Given the description of an element on the screen output the (x, y) to click on. 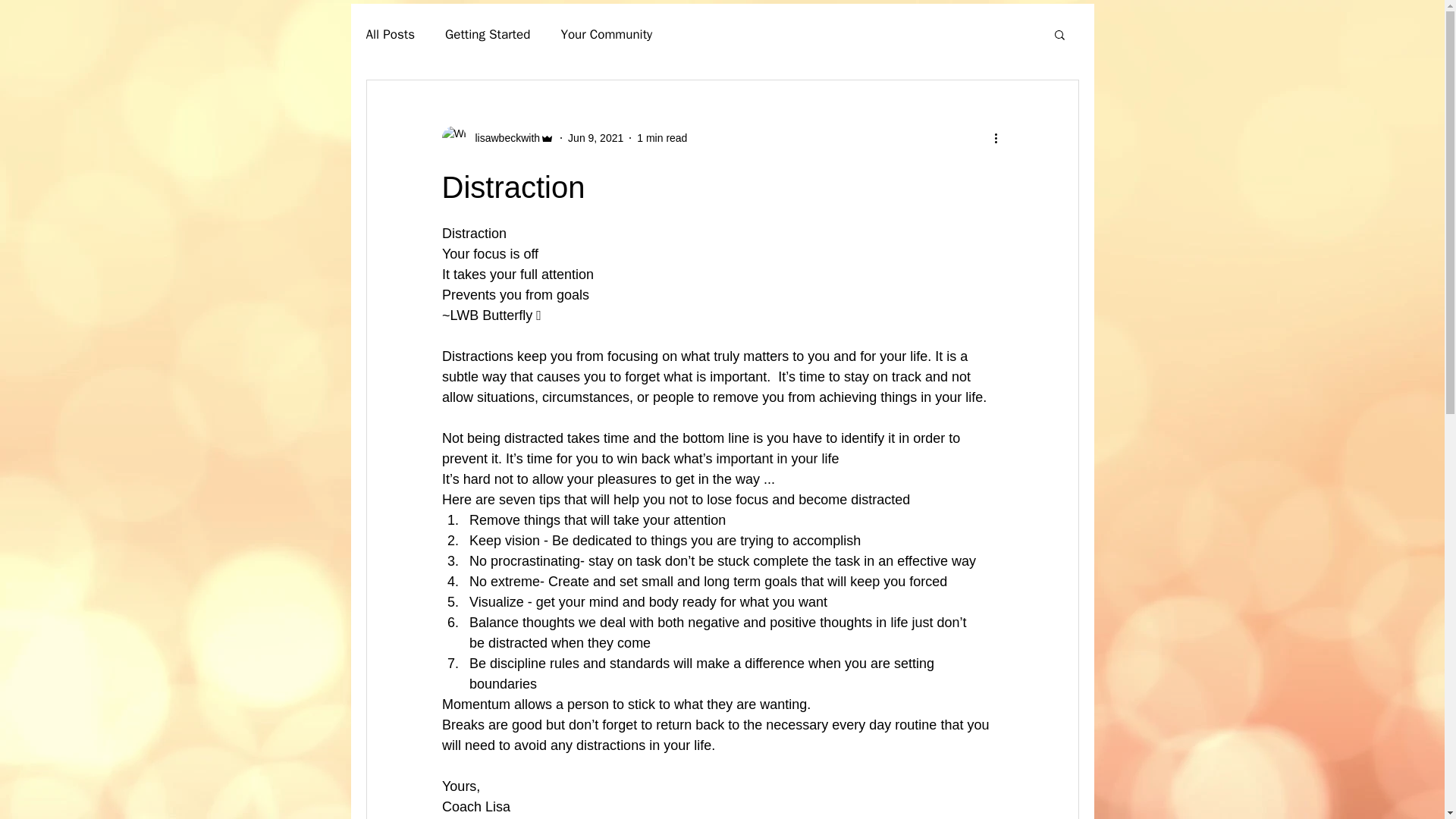
All Posts (389, 34)
1 min read (662, 137)
lisawbeckwith (502, 138)
Your Community (606, 34)
Jun 9, 2021 (595, 137)
lisawbeckwith (497, 137)
Getting Started (487, 34)
